Given the description of an element on the screen output the (x, y) to click on. 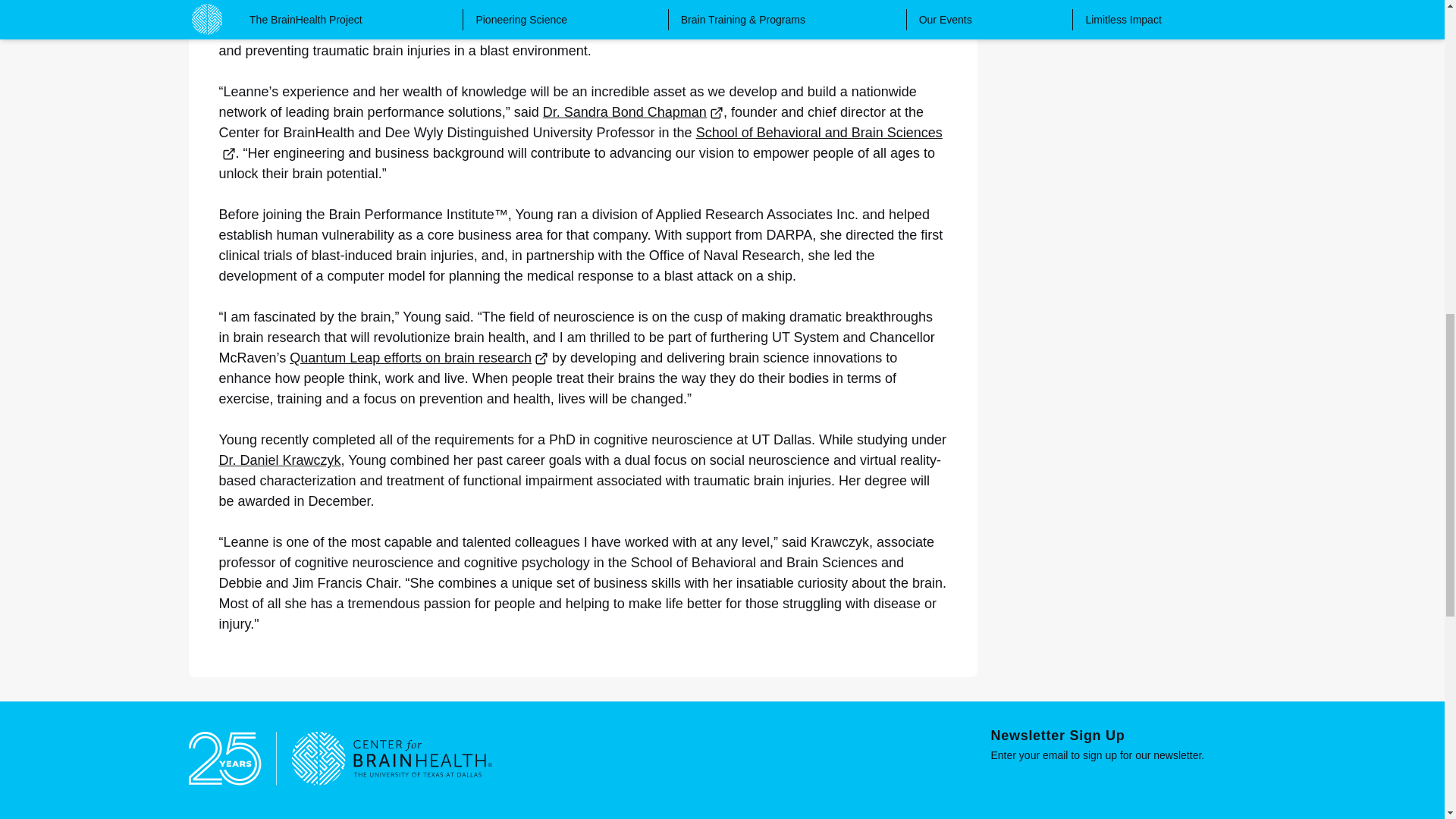
iframe (1122, 787)
Dr. Daniel Krawczyk (279, 459)
School of Behavioral and Brain Sciences (580, 142)
Dr. Sandra Bond Chapman (633, 111)
Quantum Leap efforts on brain research (418, 357)
